Given the description of an element on the screen output the (x, y) to click on. 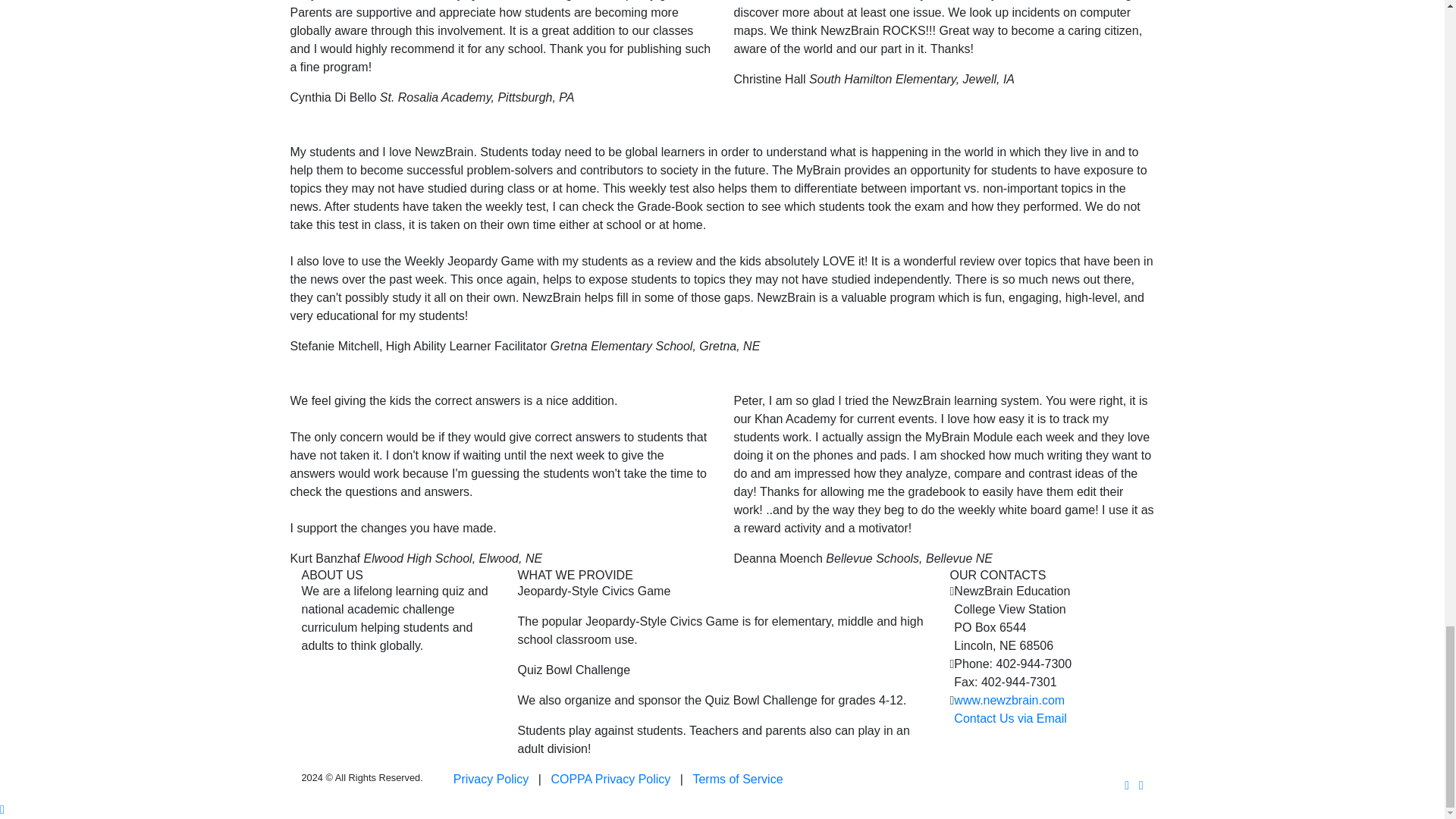
Terms of Service (738, 779)
Contact Us via Email (1010, 717)
Privacy Policy (490, 779)
www.newzbrain.com (1008, 699)
COPPA Privacy Policy (609, 779)
